Given the description of an element on the screen output the (x, y) to click on. 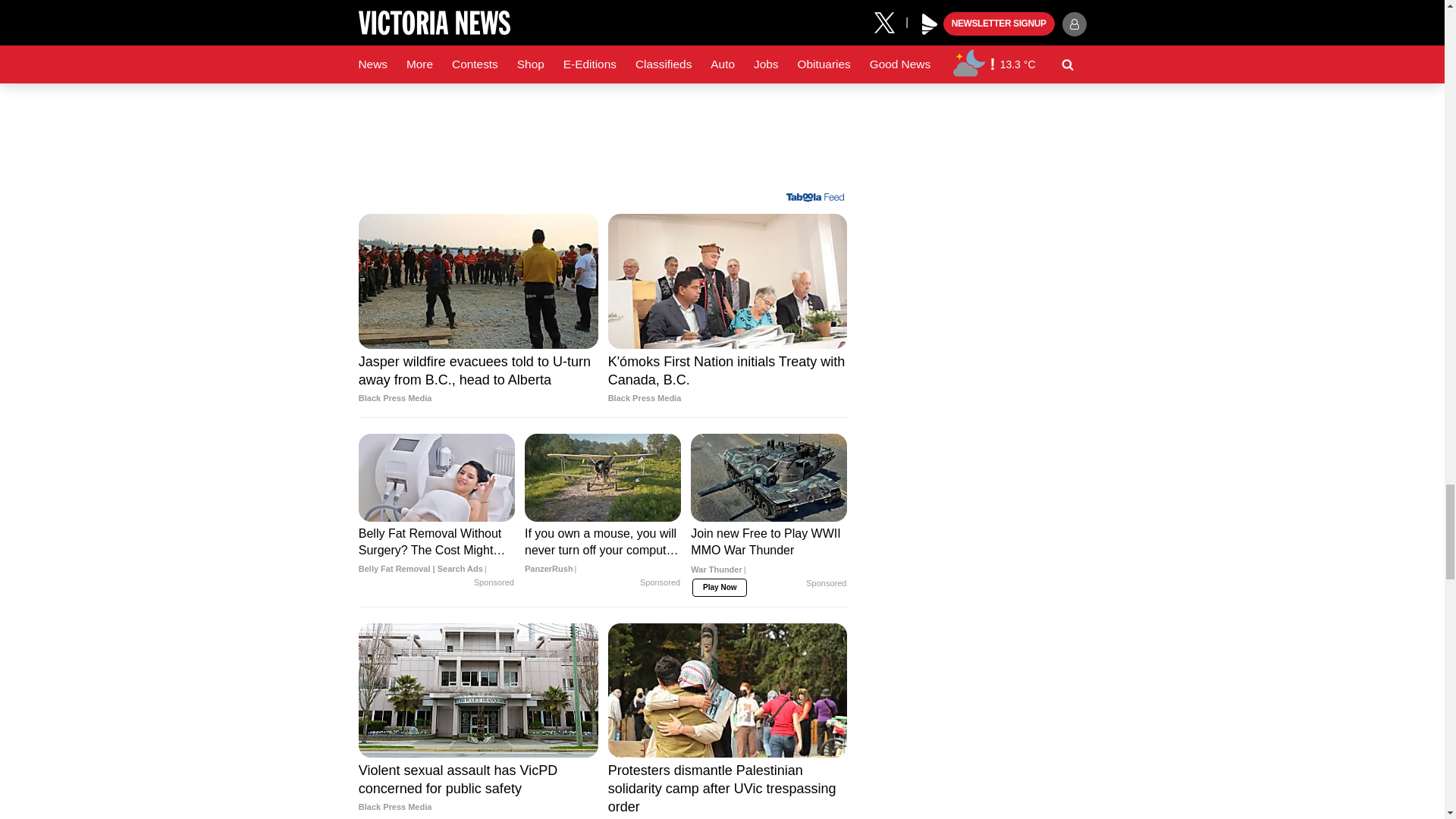
3rd party ad content (602, 94)
